Given the description of an element on the screen output the (x, y) to click on. 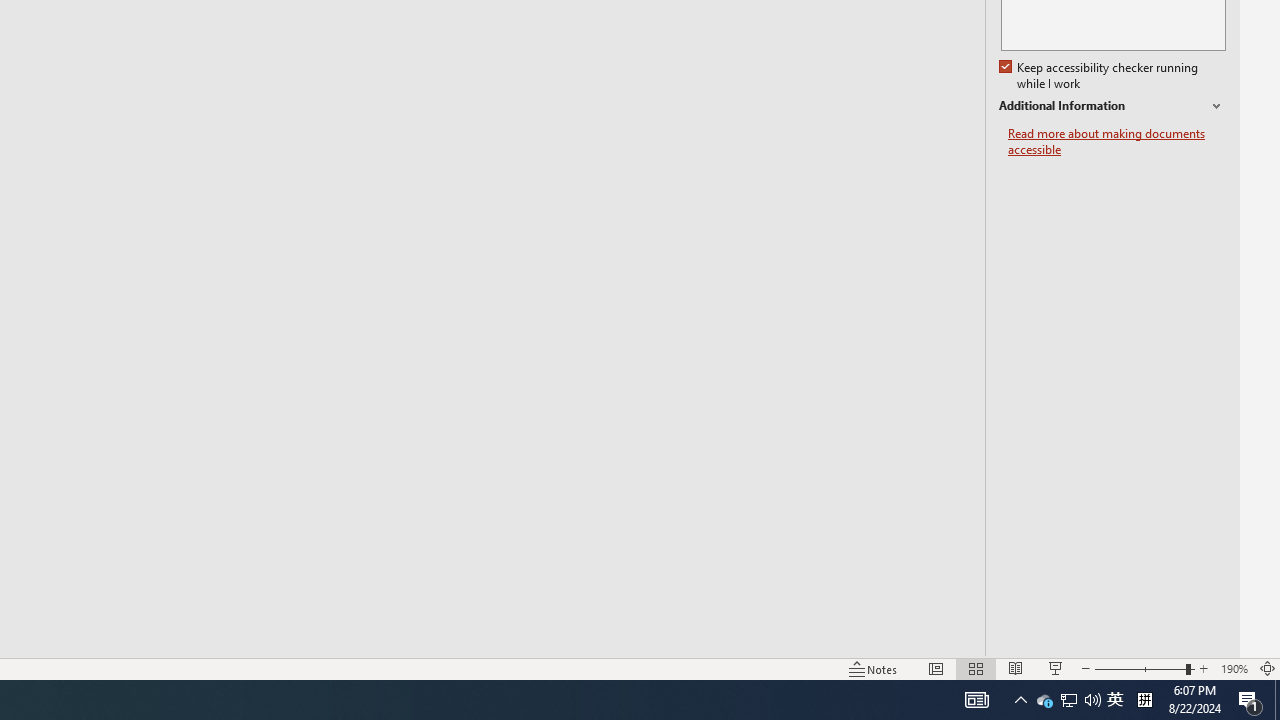
Keep accessibility checker running while I work (1099, 76)
Zoom 190% (1234, 668)
Read more about making documents accessible (1117, 142)
Additional Information (1112, 106)
